Given the description of an element on the screen output the (x, y) to click on. 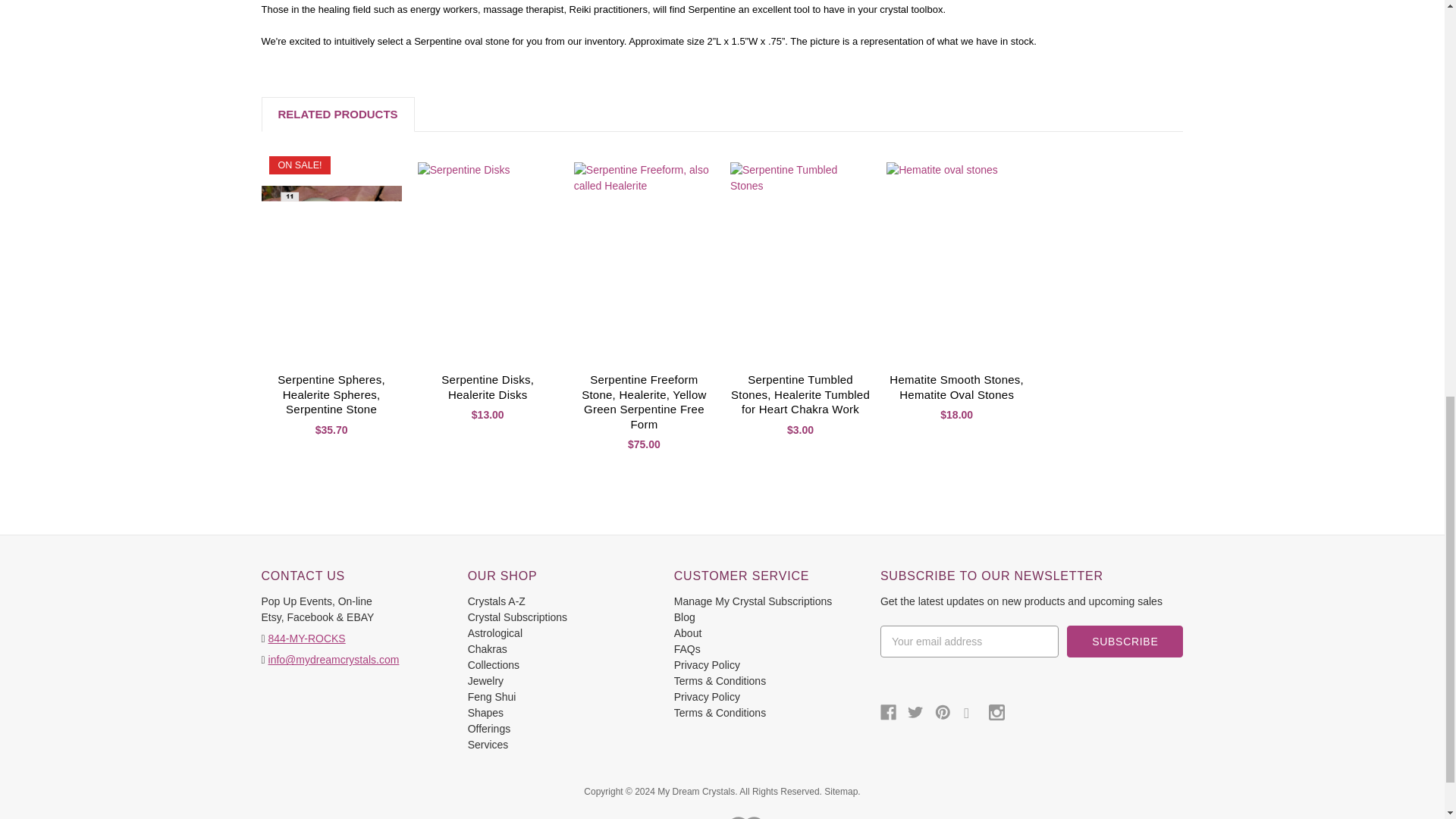
Hematite oval stones (956, 255)
Serpentine Freeform, also called Healerite (643, 255)
Subscribe (1124, 641)
Serpentine Sphere (330, 255)
Serpentine Disks (487, 255)
Serpentine Tumbled Stones (800, 255)
